Given the description of an element on the screen output the (x, y) to click on. 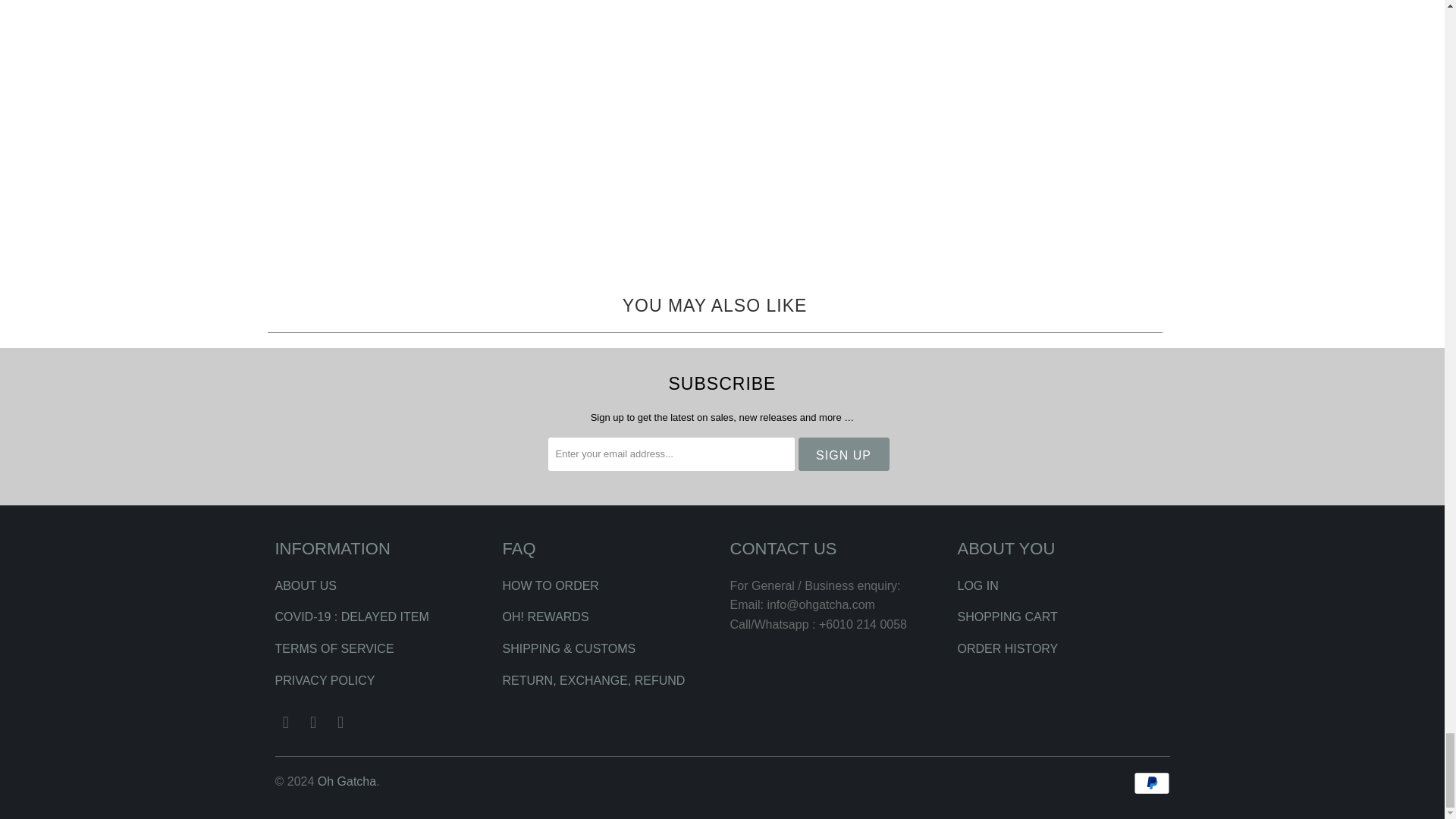
Sign Up (842, 453)
PayPal (1150, 783)
